Given the description of an element on the screen output the (x, y) to click on. 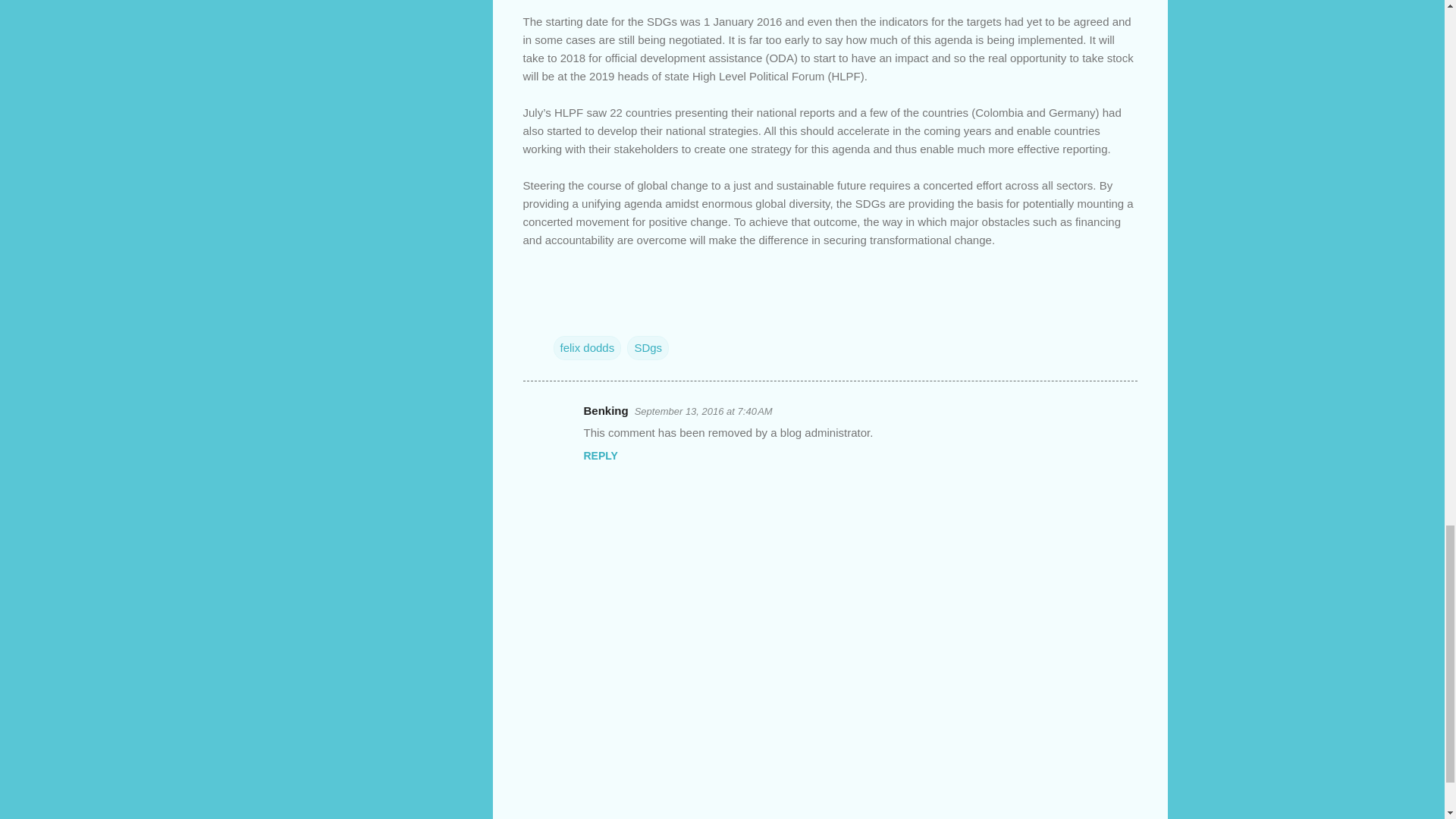
felix dodds (587, 346)
REPLY (600, 455)
SDgs (647, 346)
Benking (605, 410)
